Given the description of an element on the screen output the (x, y) to click on. 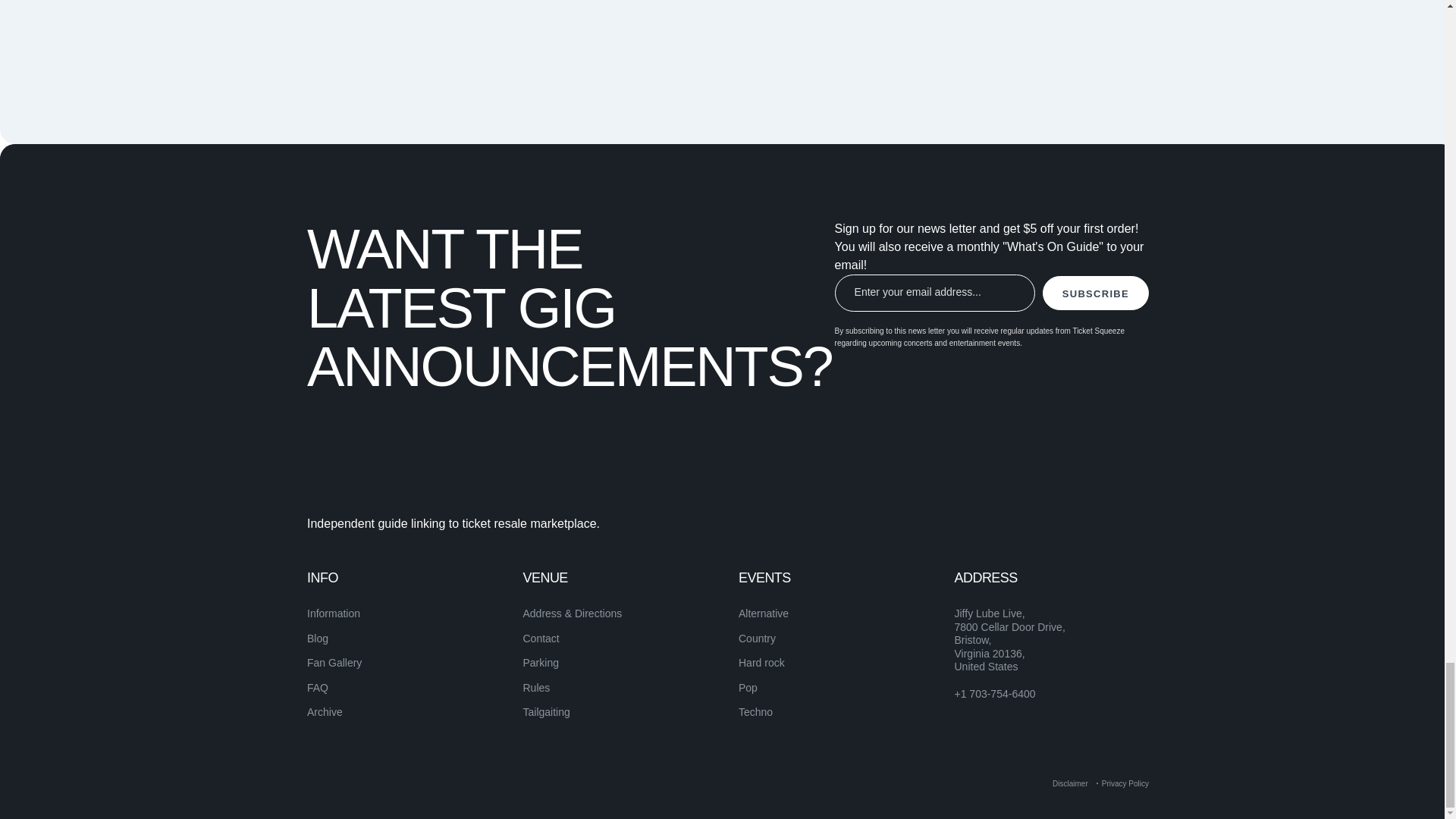
Rules (536, 687)
Country (757, 638)
Blog (318, 638)
Disclaimer (1069, 783)
Information (333, 613)
Tailgaiting (546, 711)
Fan Gallery (334, 662)
Alternative (763, 613)
Hard rock (761, 662)
FAQ (318, 687)
